Given the description of an element on the screen output the (x, y) to click on. 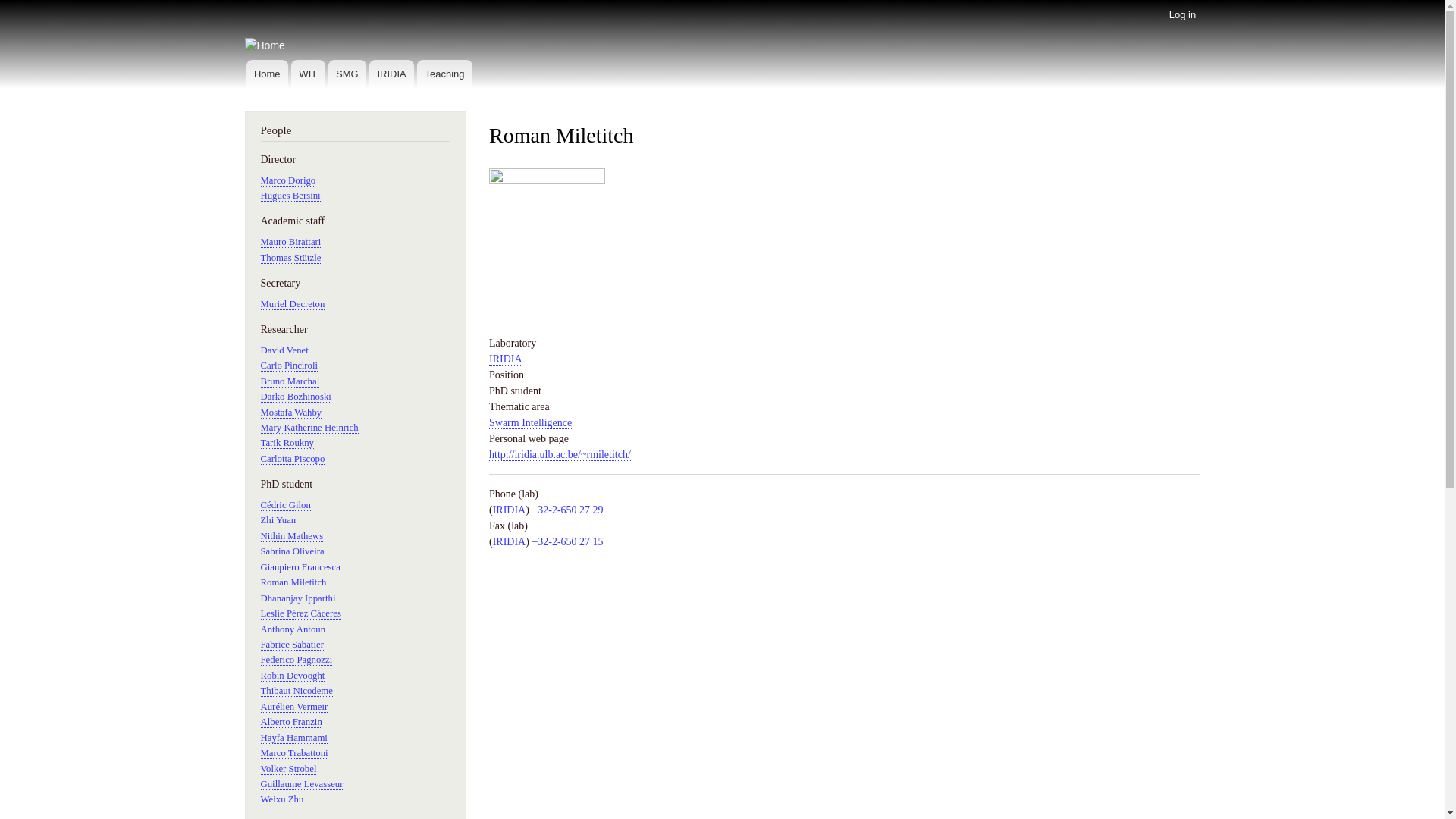
+32-2-650 27 29 Element type: text (566, 510)
IRIDIA Element type: text (505, 359)
Fabrice Sabatier Element type: text (291, 644)
Marco Dorigo Element type: text (288, 180)
Muriel Decreton Element type: text (292, 304)
Weixu Zhu Element type: text (282, 799)
Sabrina Oliveira Element type: text (292, 551)
Guillaume Levasseur Element type: text (301, 784)
IRIDIA Element type: text (509, 510)
+32-2-650 27 15 Element type: text (566, 542)
Hayfa Hammami Element type: text (293, 737)
Home Element type: text (266, 73)
Gianpiero Francesca Element type: text (300, 567)
Nithin Mathews Element type: text (291, 536)
Marco Trabattoni Element type: text (294, 753)
Skip to main content Element type: text (722, 1)
Thibaut Nicodeme Element type: text (296, 690)
IRIDIA Element type: text (391, 73)
Teaching Element type: text (444, 73)
Bruno Marchal Element type: text (290, 381)
Alberto Franzin Element type: text (291, 722)
Mostafa Wahby Element type: text (291, 412)
Darko Bozhinoski Element type: text (295, 396)
SMG Element type: text (347, 73)
Federico Pagnozzi Element type: text (296, 659)
WIT Element type: text (308, 73)
Roman Miletitch Element type: text (293, 582)
Anthony Antoun Element type: text (293, 628)
Zhi Yuan Element type: text (278, 520)
Robin Devooght Element type: text (292, 675)
Volker Strobel Element type: text (288, 769)
Carlo Pinciroli Element type: text (289, 365)
Carlotta Piscopo Element type: text (292, 458)
Dhananjay Ipparthi Element type: text (297, 598)
Mary Katherine Heinrich Element type: text (309, 427)
Mauro Birattari Element type: text (290, 241)
Swarm Intelligence Element type: text (530, 423)
Hugues Bersini Element type: text (290, 195)
Tarik Roukny Element type: text (286, 442)
Log in Element type: text (1182, 15)
David Venet Element type: text (284, 350)
http://iridia.ulb.ac.be/~rmiletitch/ Element type: text (559, 454)
IRIDIA Element type: text (509, 542)
